Given the description of an element on the screen output the (x, y) to click on. 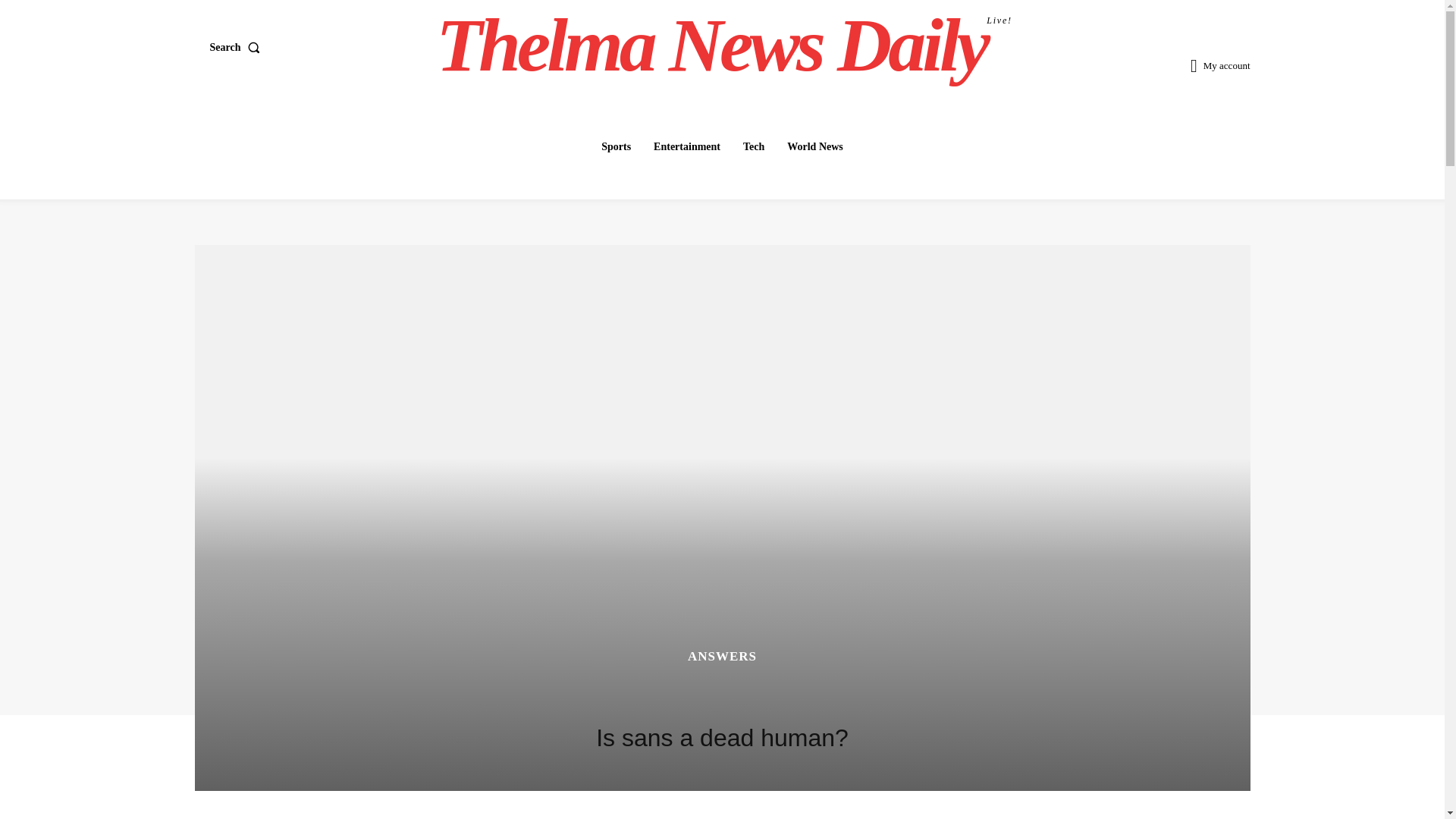
Tech (753, 146)
Sports (616, 146)
World News (814, 146)
ANSWERS (722, 656)
Search (237, 47)
Entertainment (724, 45)
